Given the description of an element on the screen output the (x, y) to click on. 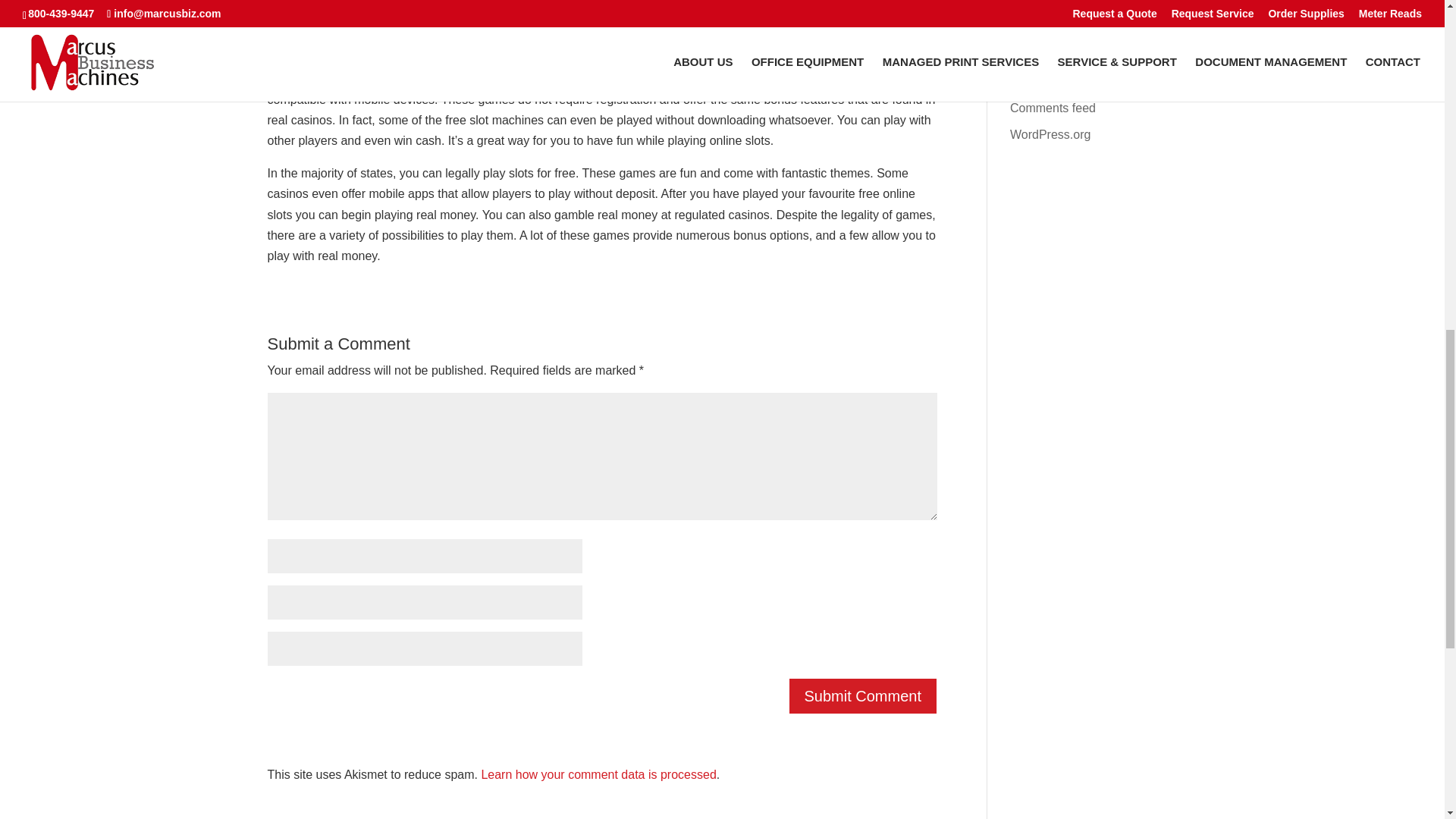
Submit Comment (863, 696)
Learn how your comment data is processed (598, 773)
Submit Comment (863, 696)
Total (388, 45)
